Given the description of an element on the screen output the (x, y) to click on. 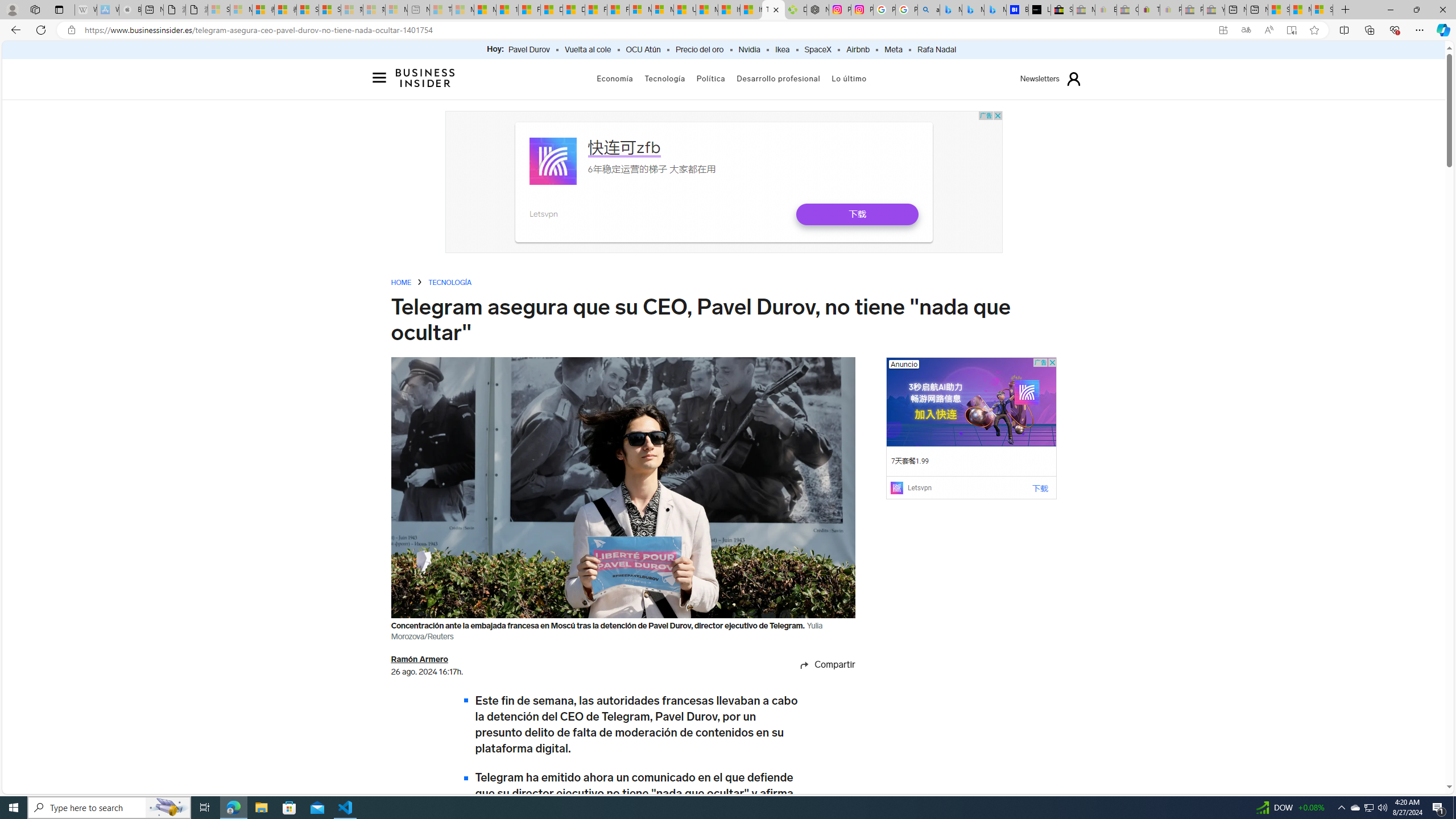
Buy iPad - Apple - Sleeping (130, 9)
Rafa Nadal (936, 49)
Press Room - eBay Inc. - Sleeping (1192, 9)
